Given the description of an element on the screen output the (x, y) to click on. 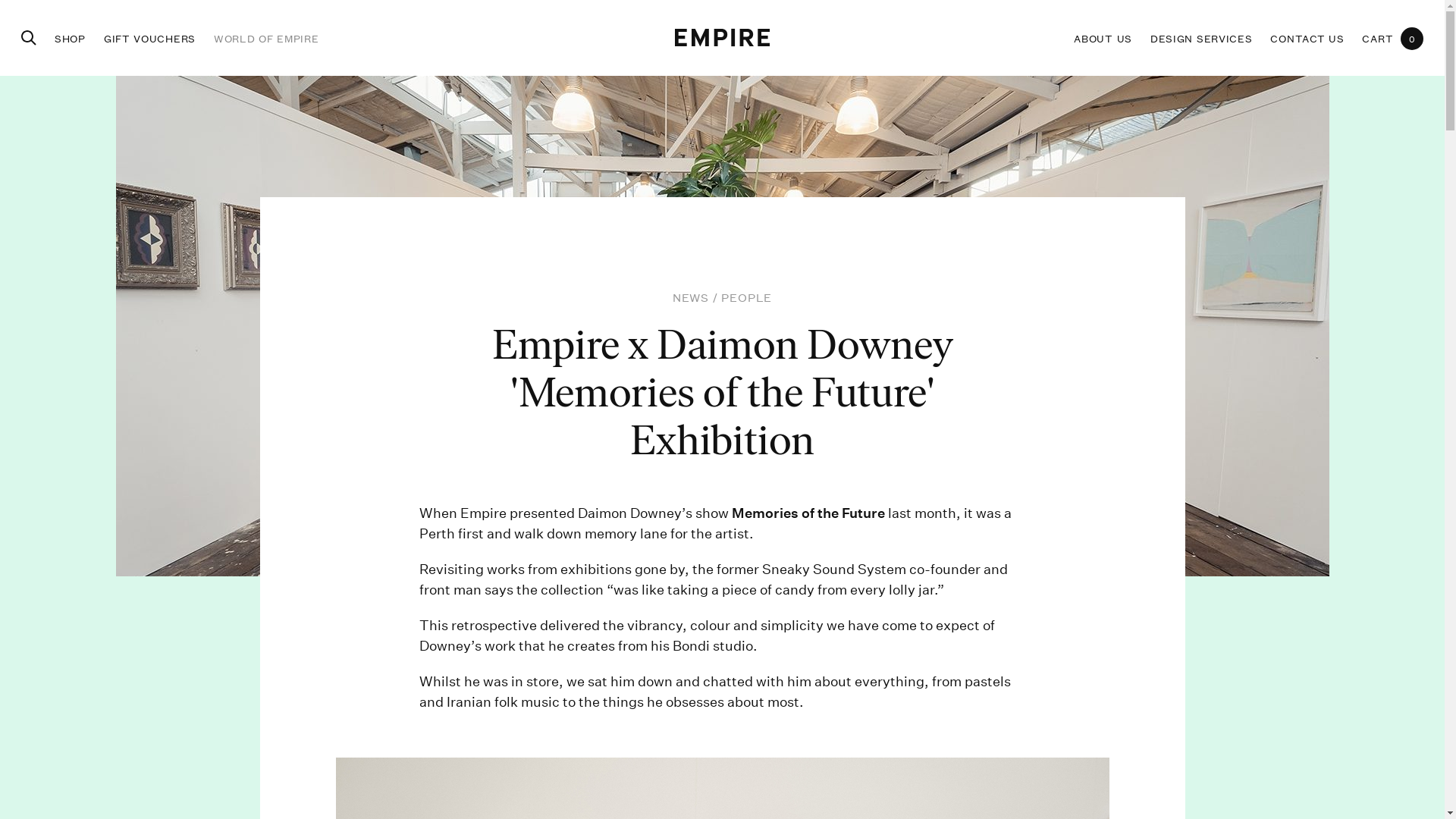
Search Element type: hover (28, 37)
GIFT VOUCHERS Element type: text (149, 37)
DESIGN SERVICES Element type: text (1201, 37)
WORLD OF EMPIRE Element type: text (266, 37)
SHOP Element type: text (69, 37)
EMPIRE Home Element type: hover (721, 37)
NEWS Element type: text (690, 296)
PEOPLE Element type: text (746, 296)
CONTACT US Element type: text (1306, 37)
CART 0 Element type: text (1392, 37)
ABOUT US Element type: text (1102, 37)
